Given the description of an element on the screen output the (x, y) to click on. 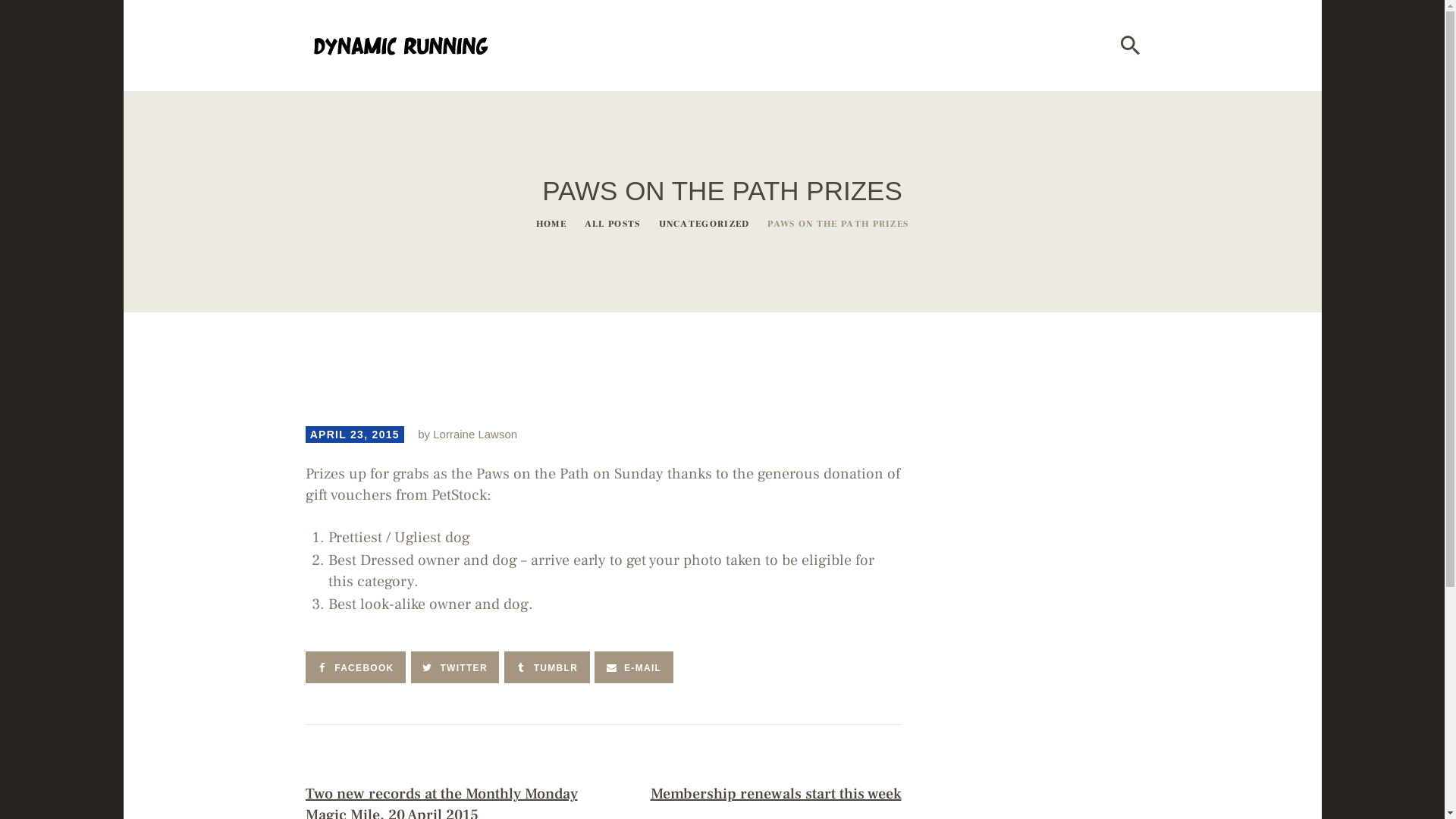
Lorraine Lawson Element type: text (475, 433)
UNCATEGORIZED Element type: text (703, 224)
TWITTER Element type: text (455, 666)
HOME Element type: text (551, 224)
FACEBOOK Element type: text (354, 666)
ALL POSTS Element type: text (612, 223)
NEXT POST
Membership renewals start this week Element type: text (757, 785)
TUMBLR Element type: text (546, 666)
E-MAIL Element type: text (633, 666)
